Given the description of an element on the screen output the (x, y) to click on. 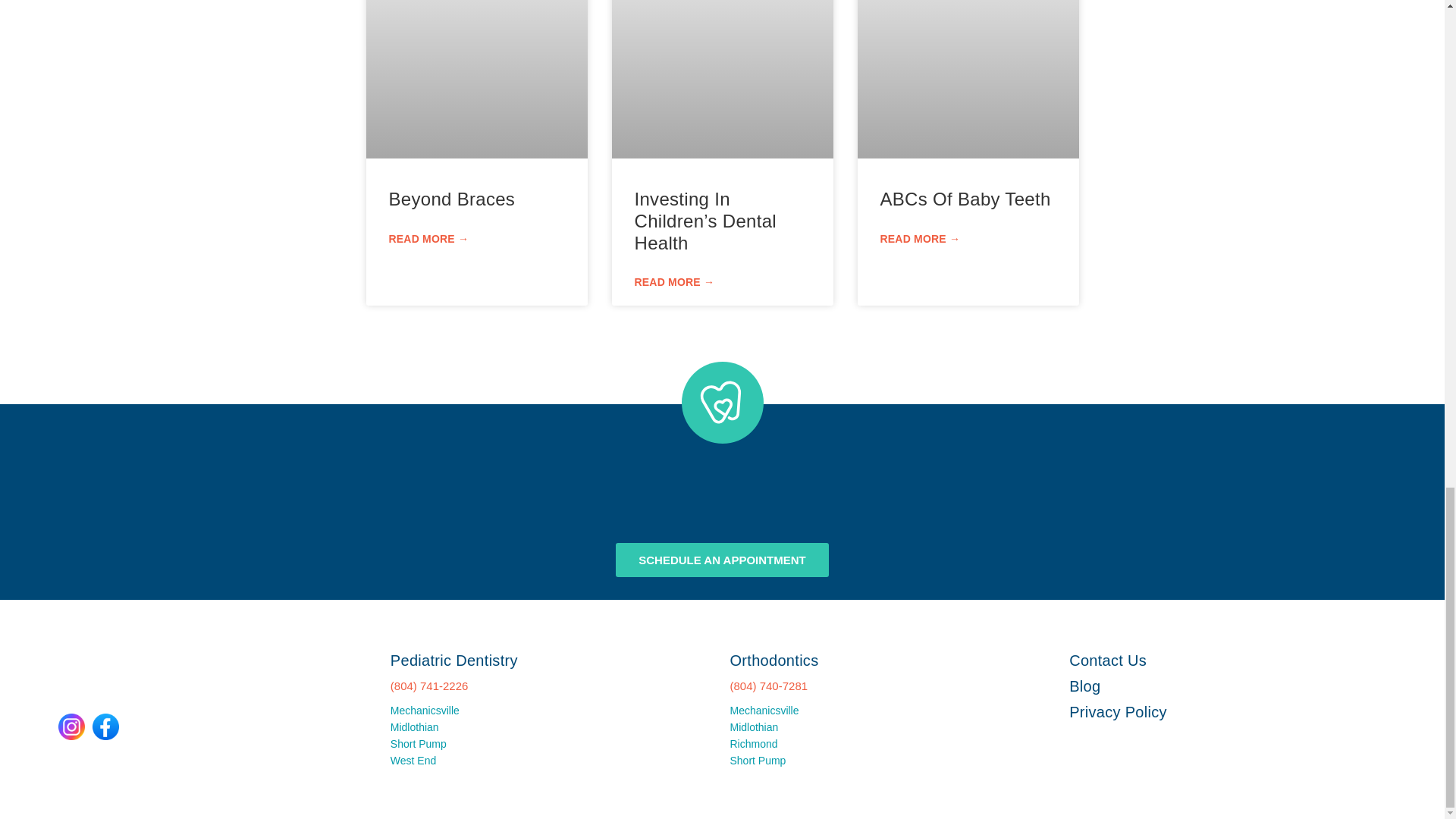
SCHEDULE AN APPOINTMENT (721, 559)
Beyond Braces (451, 199)
ABCs Of Baby Teeth (964, 199)
Pediatric Dentistry (454, 660)
